Given the description of an element on the screen output the (x, y) to click on. 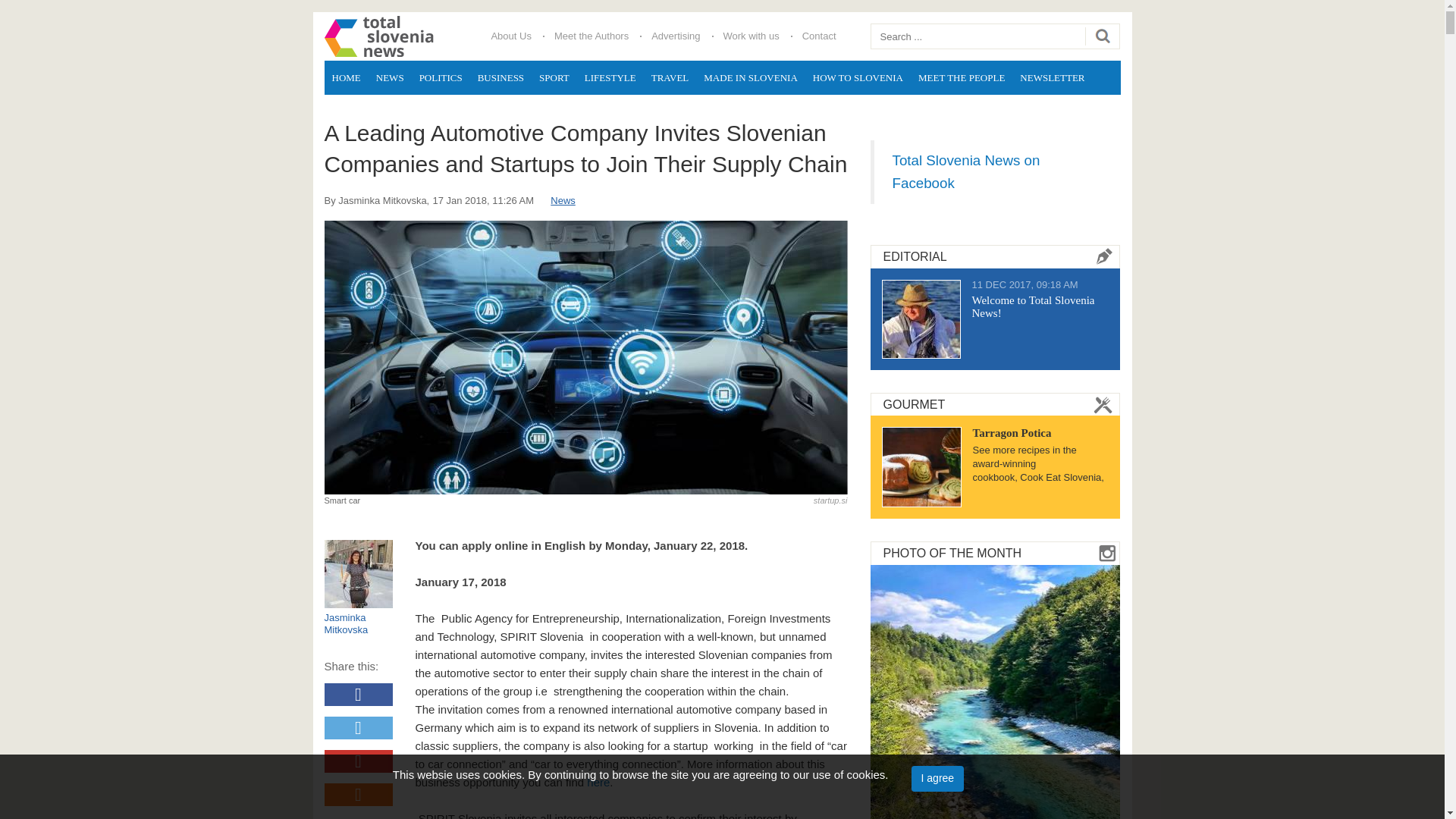
NEWSLETTER (1051, 77)
Jasminka Mitkovska (381, 200)
LIFESTYLE (609, 77)
HOME (346, 77)
POLITICS (441, 77)
Work with us (750, 35)
Meet the Authors (591, 35)
News (562, 200)
HOW TO SLOVENIA (858, 77)
Continue reading "Tarragon Potica" (920, 466)
Jasminka Mitkovska (358, 623)
About Us (510, 35)
Share (358, 793)
Contact (818, 35)
